Given the description of an element on the screen output the (x, y) to click on. 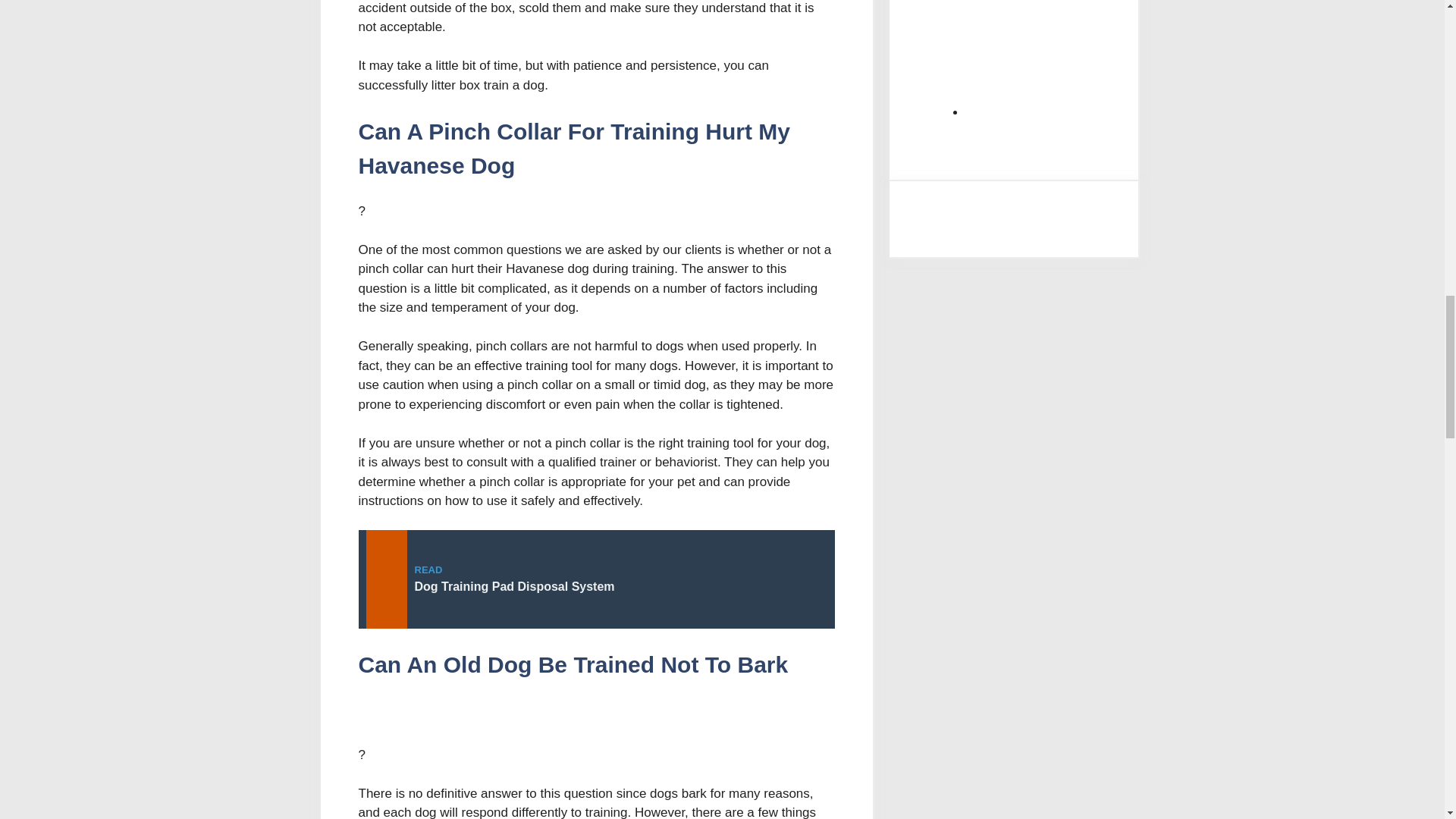
RSS (1079, 60)
